Given the description of an element on the screen output the (x, y) to click on. 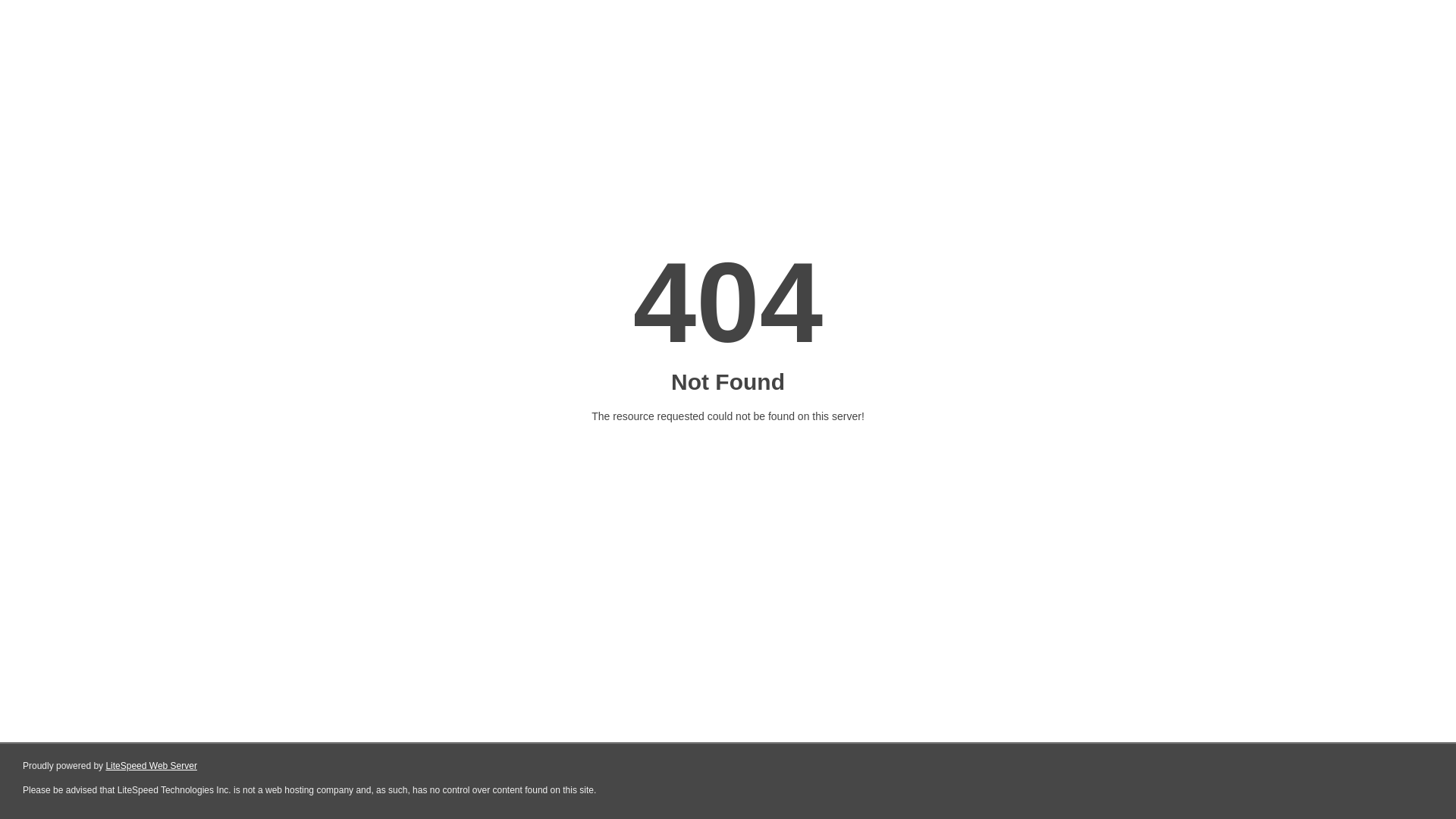
LiteSpeed Web Server Element type: text (151, 765)
